Given the description of an element on the screen output the (x, y) to click on. 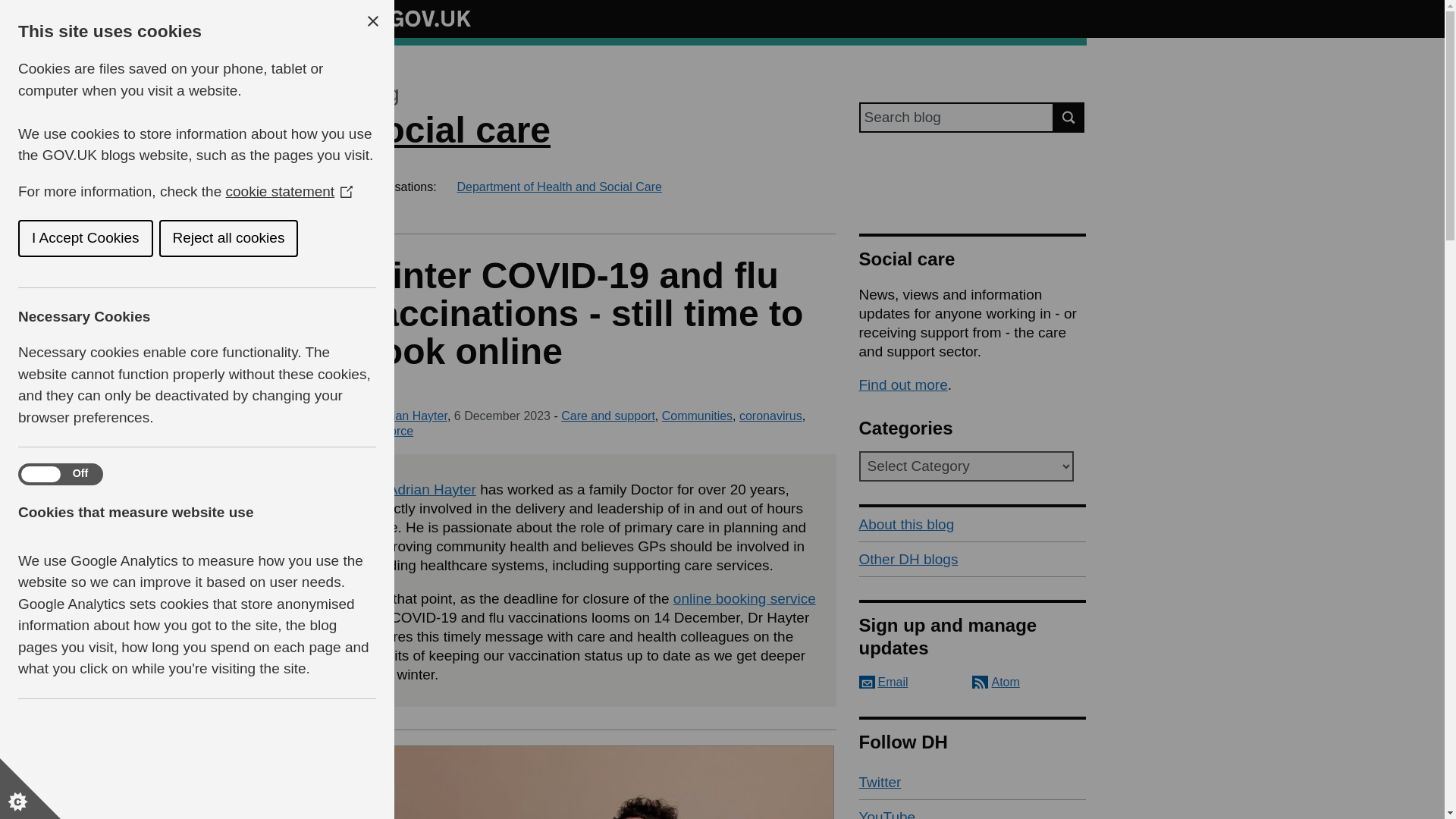
Dr Adrian Hayter (422, 489)
Department of Health and Social Care (559, 186)
Dr Adrian Hayter (402, 415)
Workforce (385, 431)
Reject all cookies (50, 238)
About this blog (972, 524)
Posts by Dr Adrian Hayter (402, 415)
Search (1069, 117)
Go to the GOV.UK homepage (414, 18)
Other DH blogs (972, 559)
